Given the description of an element on the screen output the (x, y) to click on. 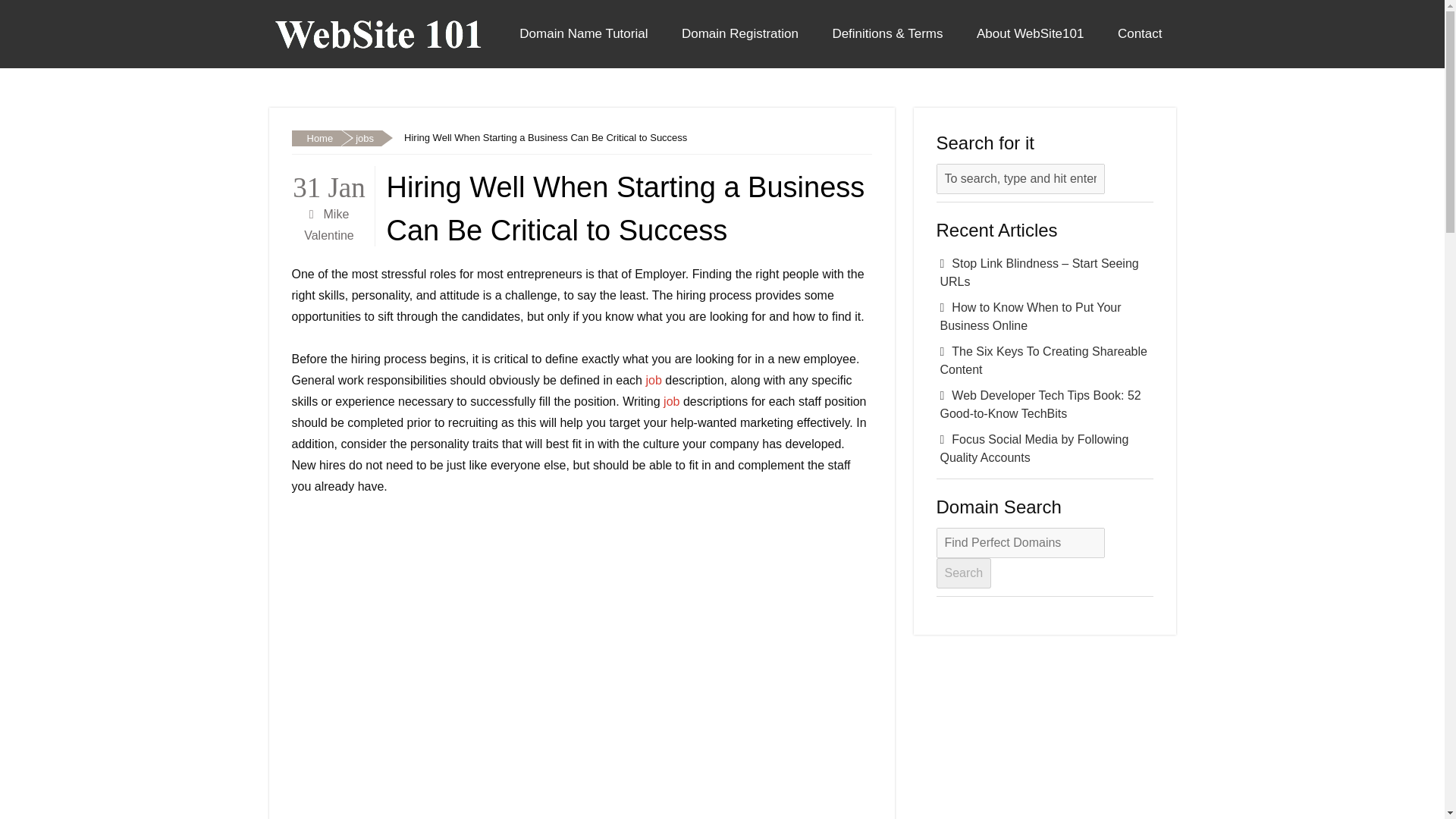
job (653, 379)
Domain Registration (739, 33)
Search (963, 572)
2010-01-31 (328, 184)
Search (963, 572)
Focus Social Media by Following Quality Accounts (1044, 448)
Contact (1139, 33)
Domain Name Tutorial (582, 33)
Web Developer Tech Tips Book: 52 Good-to-Know TechBits (1044, 404)
Search (963, 572)
The Six Keys To Creating Shareable Content (1044, 361)
job (671, 400)
To search, type and hit enter (1019, 178)
Home (315, 138)
How to Know When to Put Your Business Online (1044, 316)
